Given the description of an element on the screen output the (x, y) to click on. 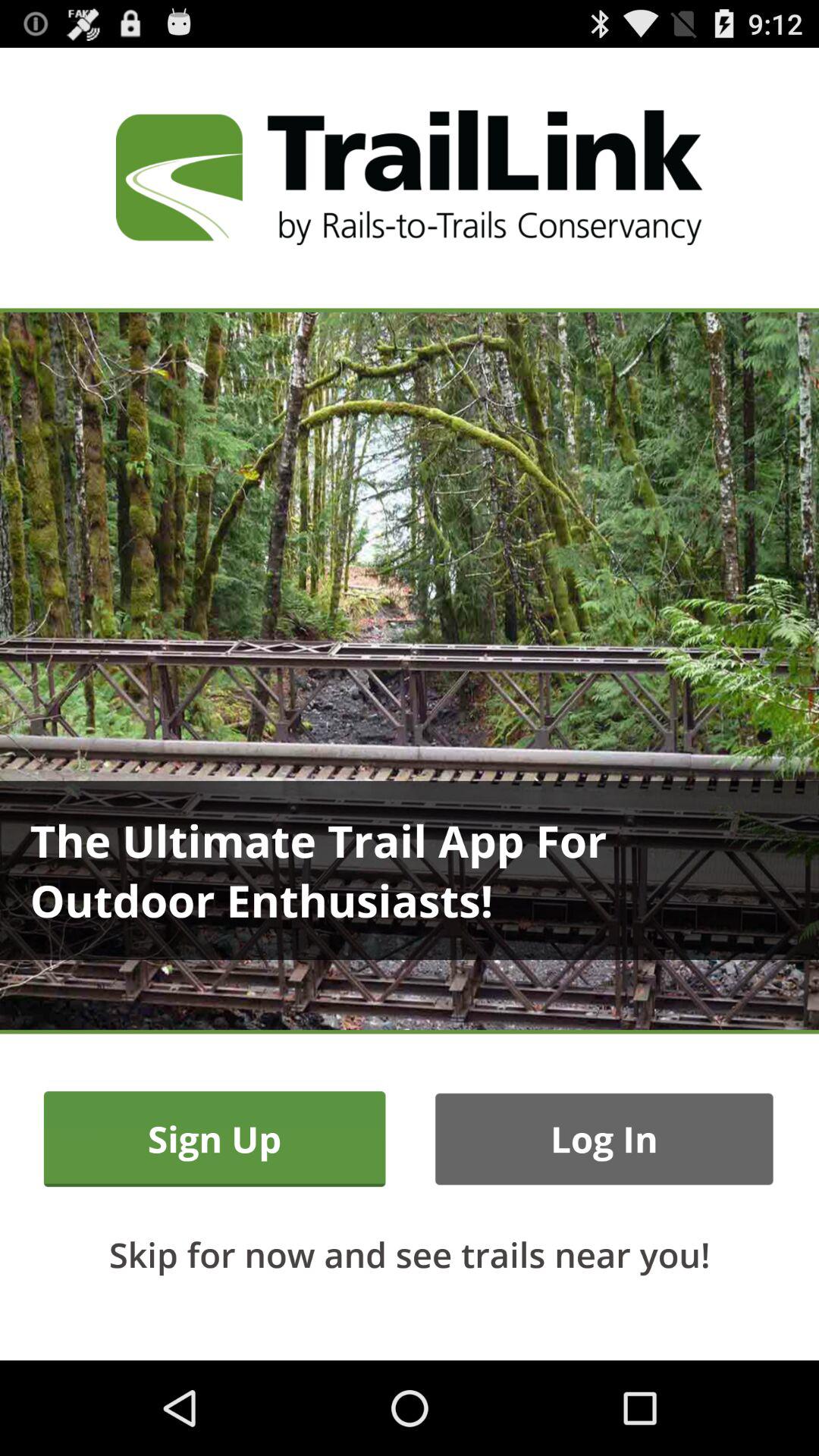
tap the item next to sign up (604, 1138)
